Given the description of an element on the screen output the (x, y) to click on. 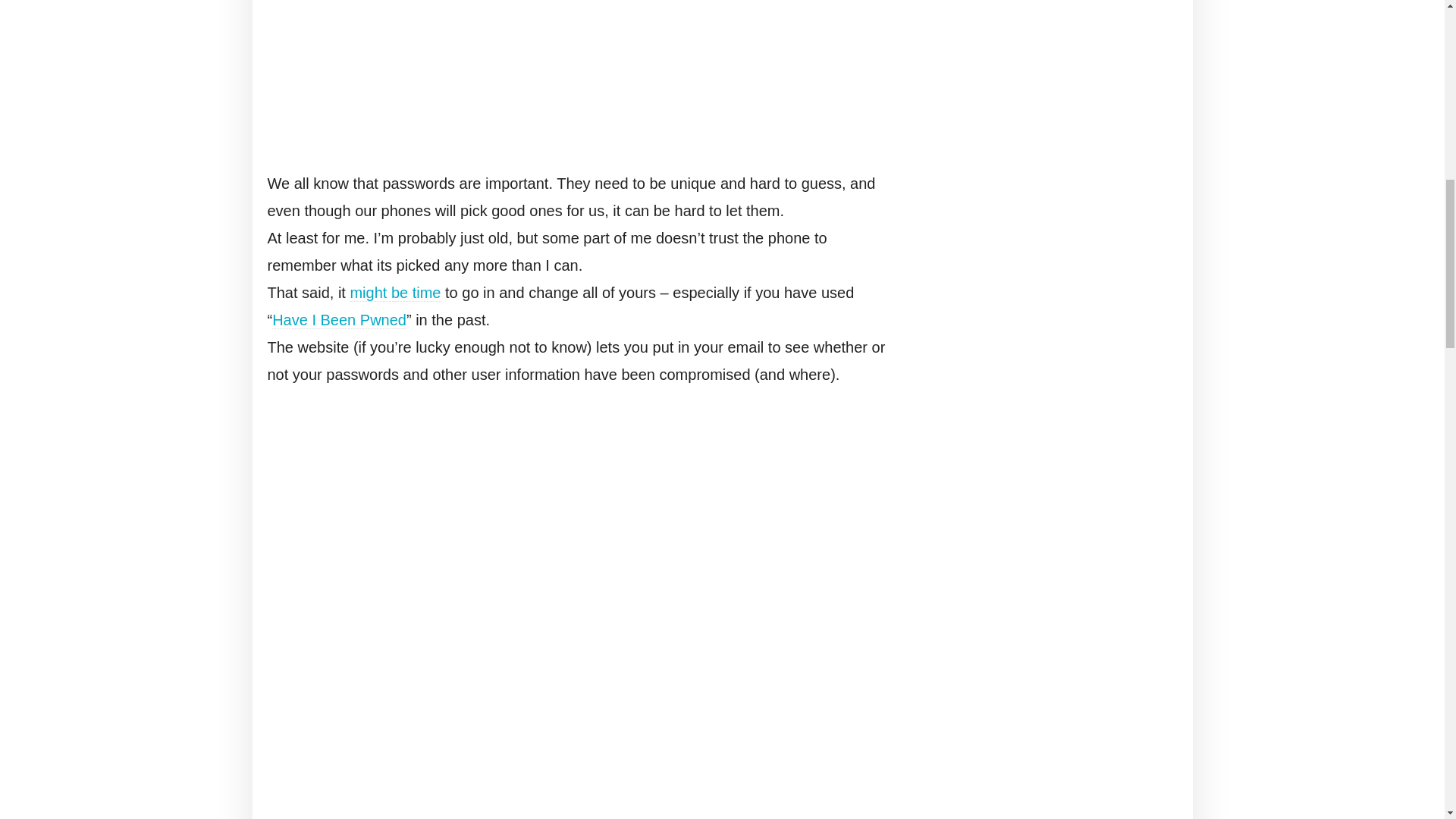
might be time (395, 293)
Have I Been Pwned (339, 320)
